Given the description of an element on the screen output the (x, y) to click on. 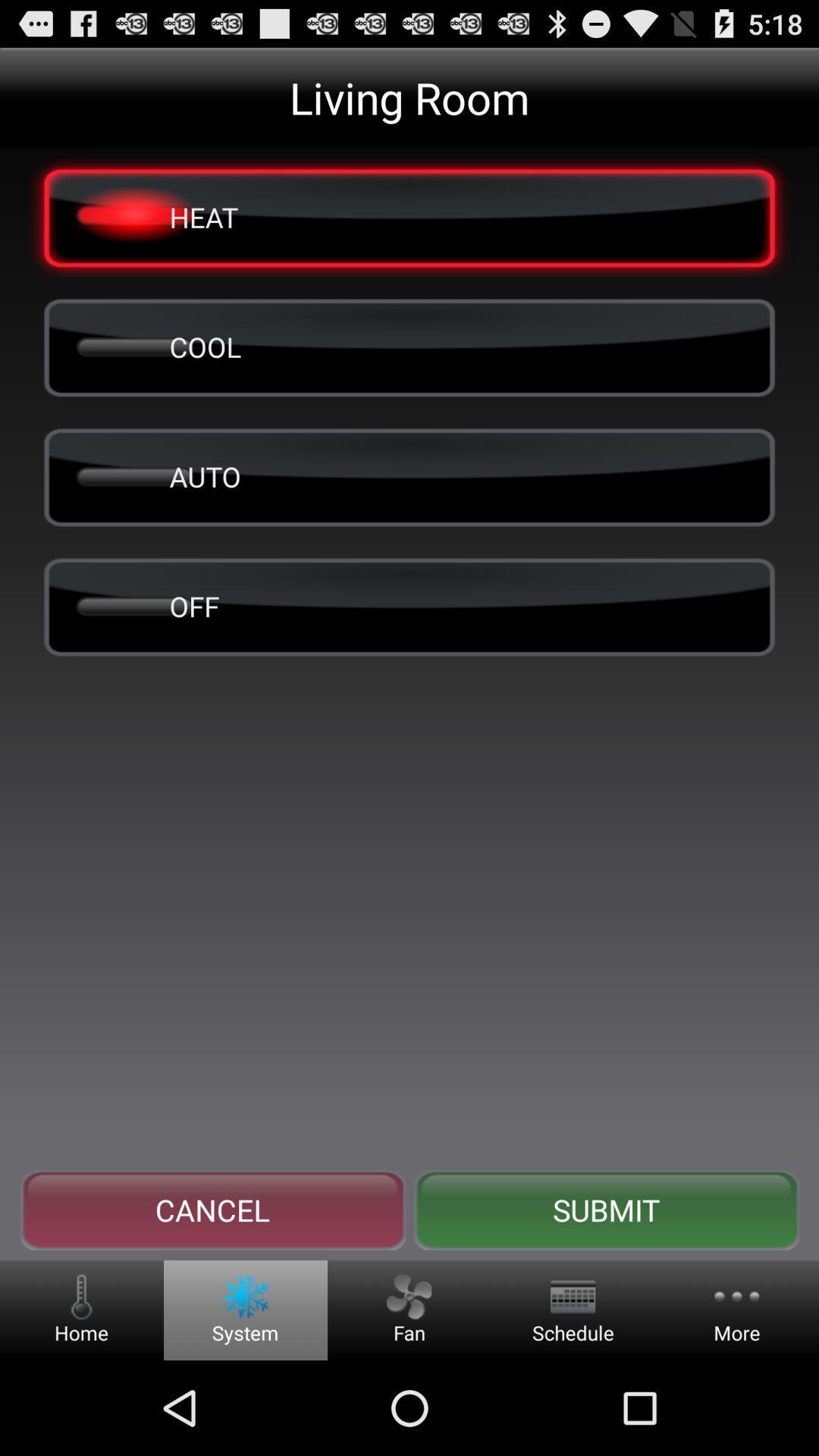
press heat item (409, 216)
